Given the description of an element on the screen output the (x, y) to click on. 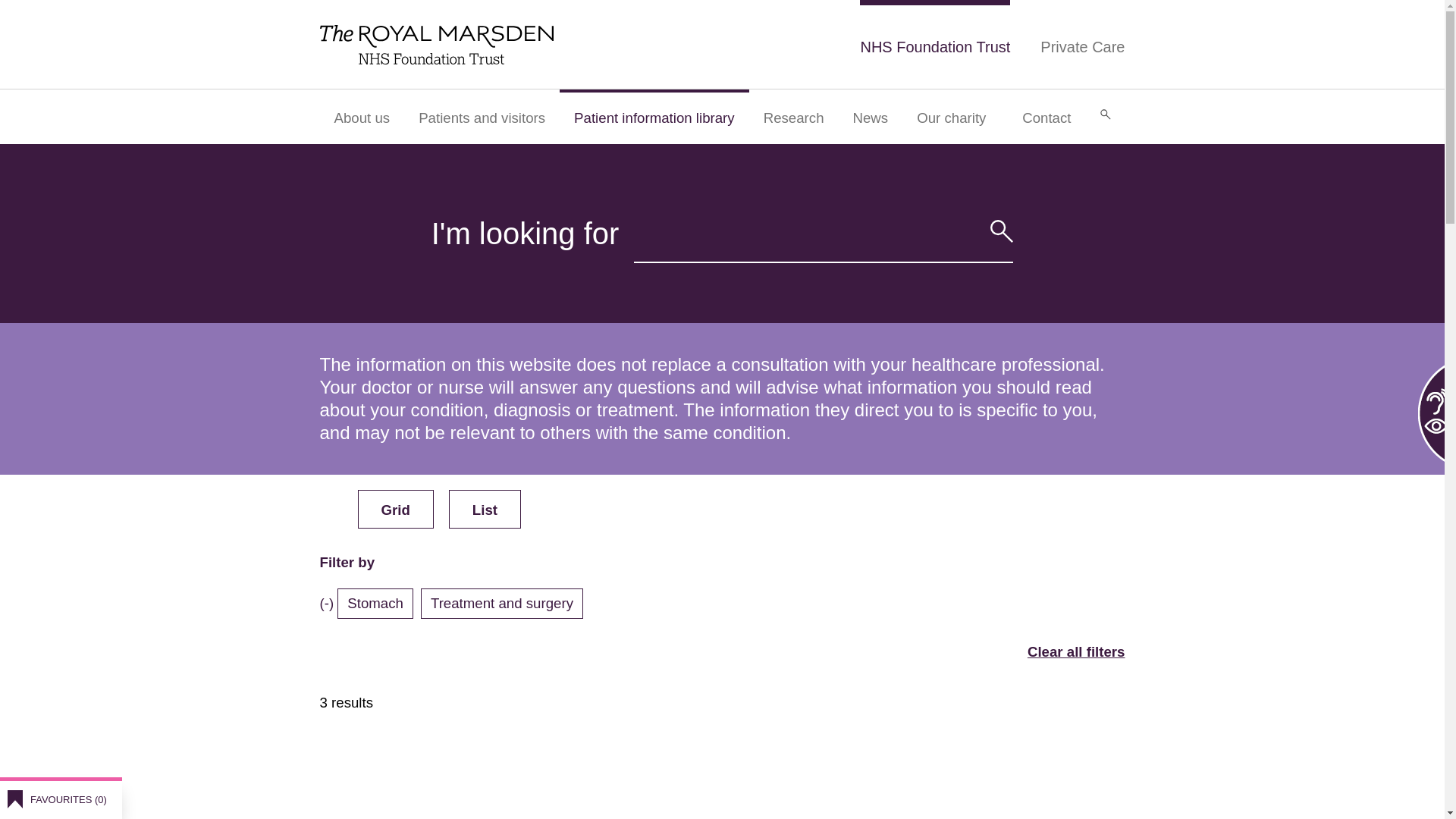
Contact (1045, 116)
Grid (395, 508)
Clear all filters (1076, 651)
News (870, 116)
About us (362, 116)
Patient information library (654, 116)
Treatment and surgery (505, 602)
Patients and visitors (481, 116)
Research (793, 116)
NHS Foundation Trust (935, 44)
